Given the description of an element on the screen output the (x, y) to click on. 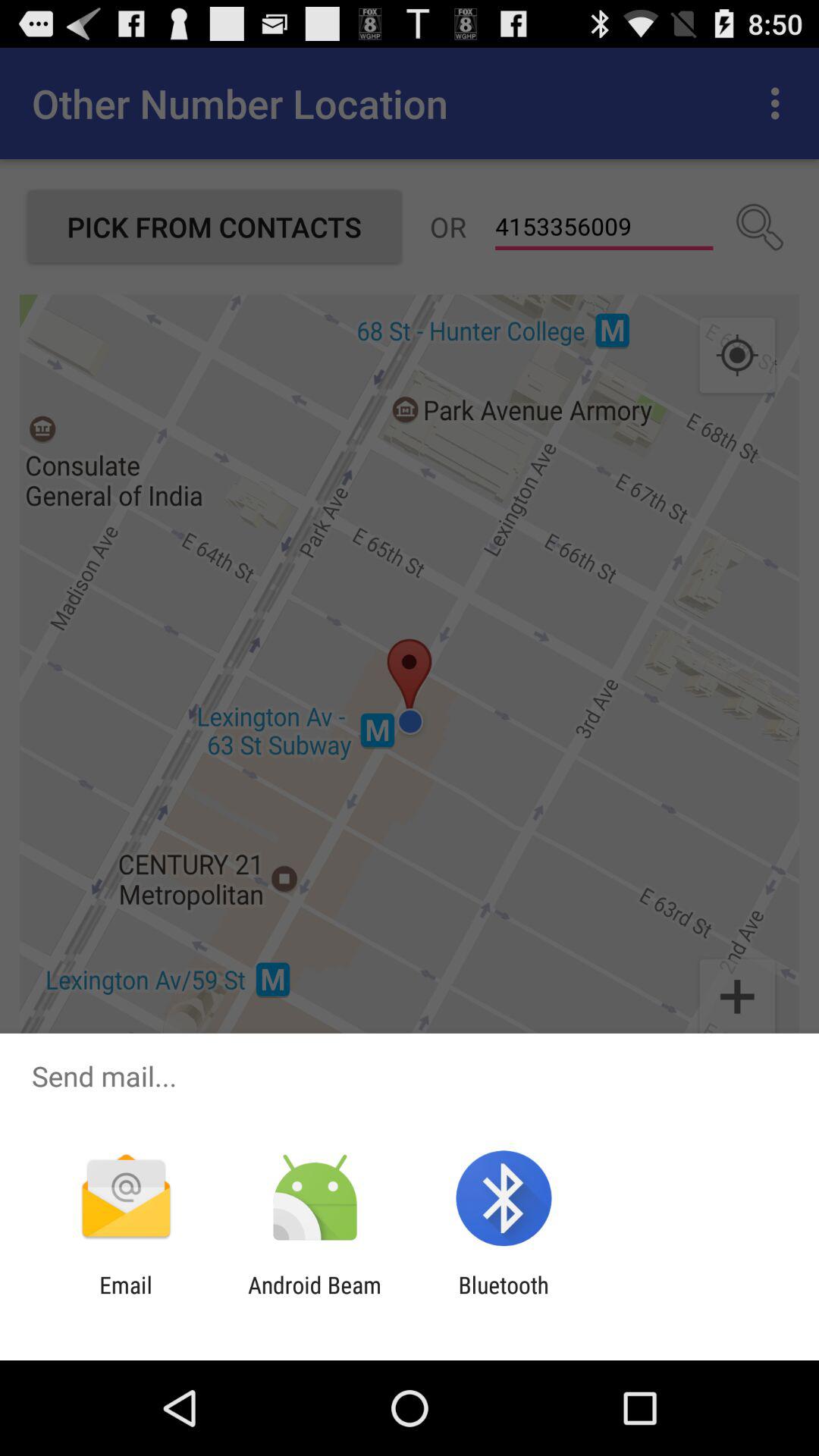
open the android beam item (314, 1298)
